Given the description of an element on the screen output the (x, y) to click on. 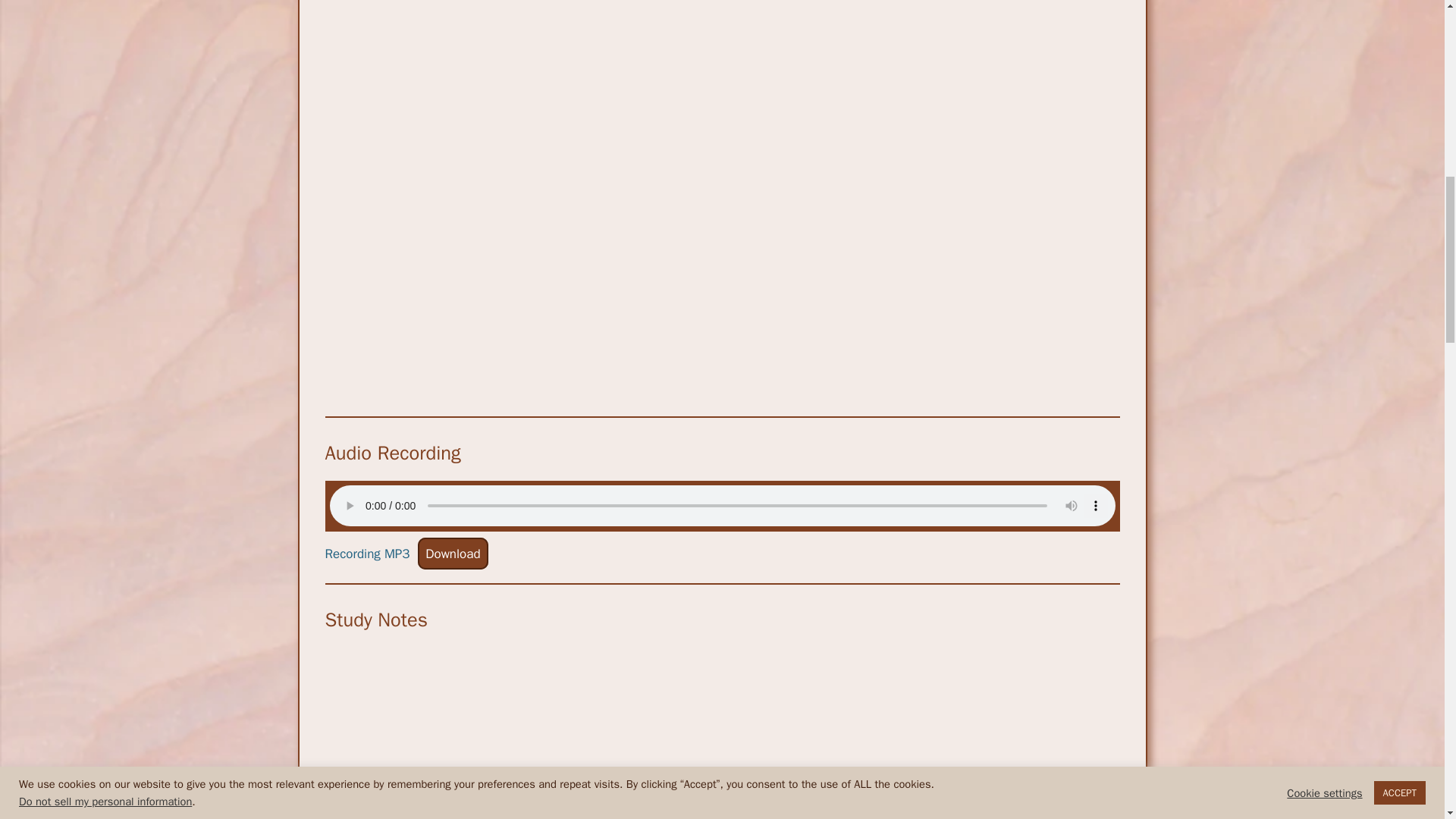
Download (452, 553)
Recording MP3 (366, 553)
Scroll back to top (1406, 720)
